Given the description of an element on the screen output the (x, y) to click on. 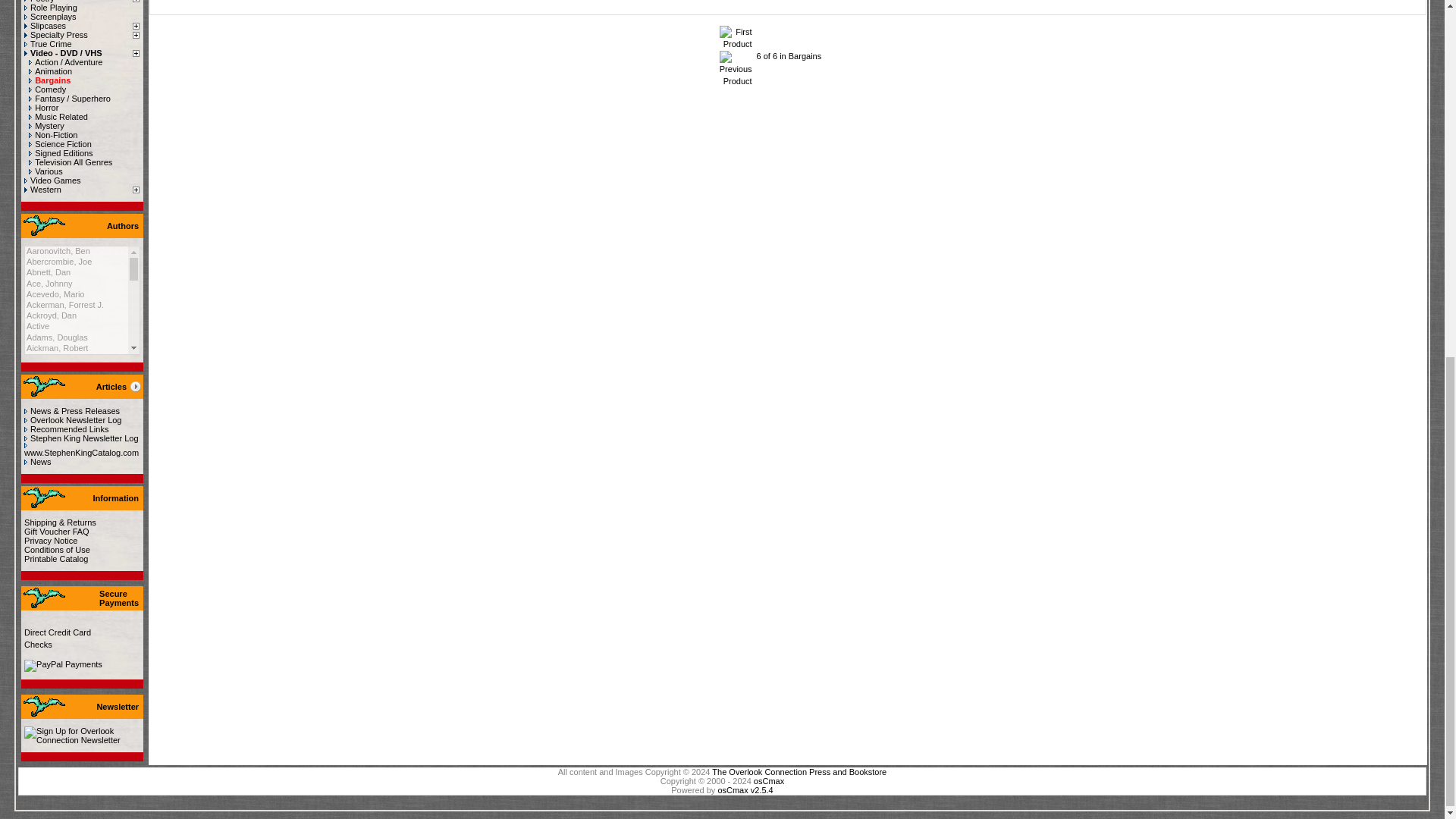
 more  (135, 386)
